Given the description of an element on the screen output the (x, y) to click on. 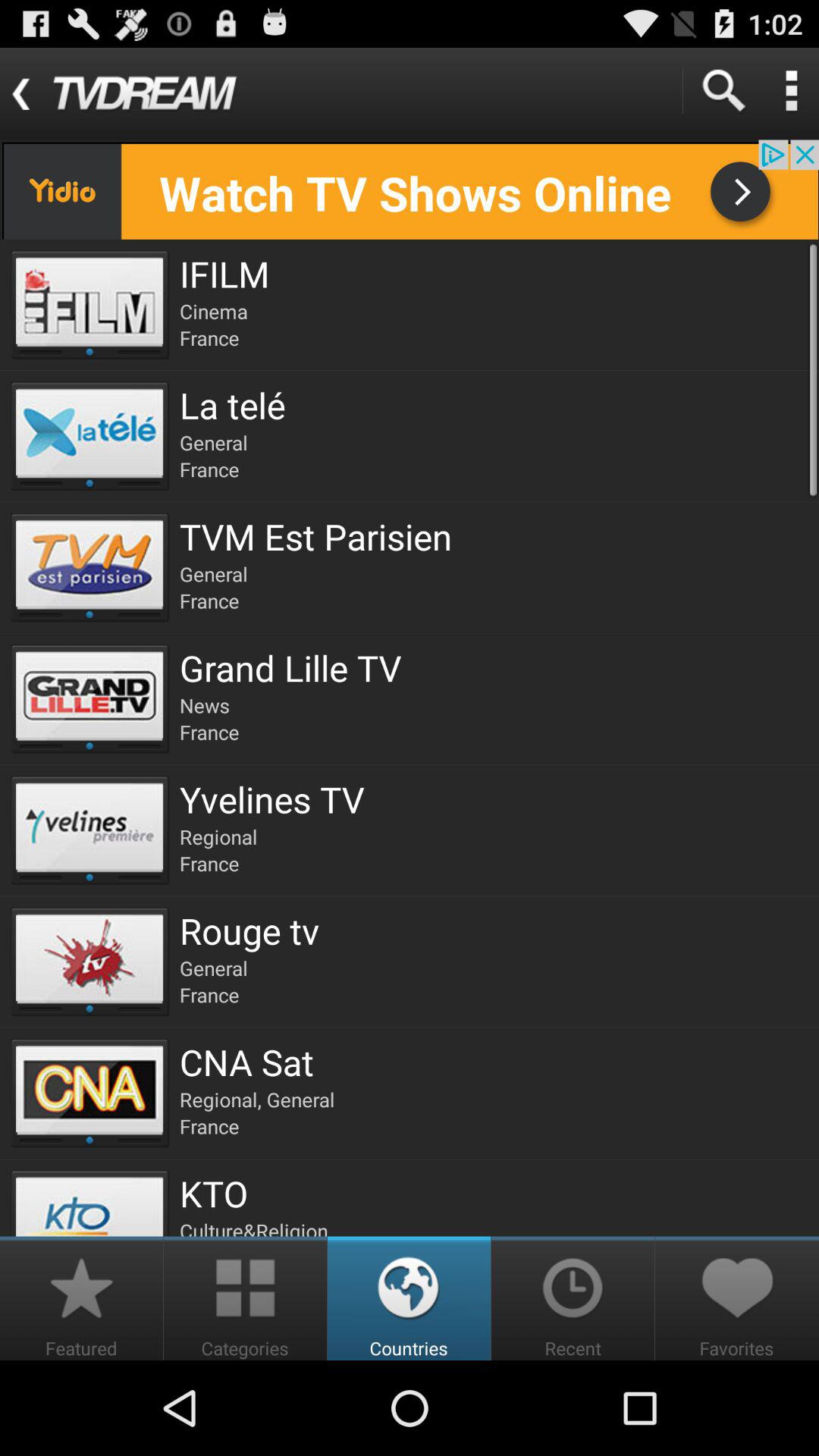
banner advertisement (409, 189)
